Given the description of an element on the screen output the (x, y) to click on. 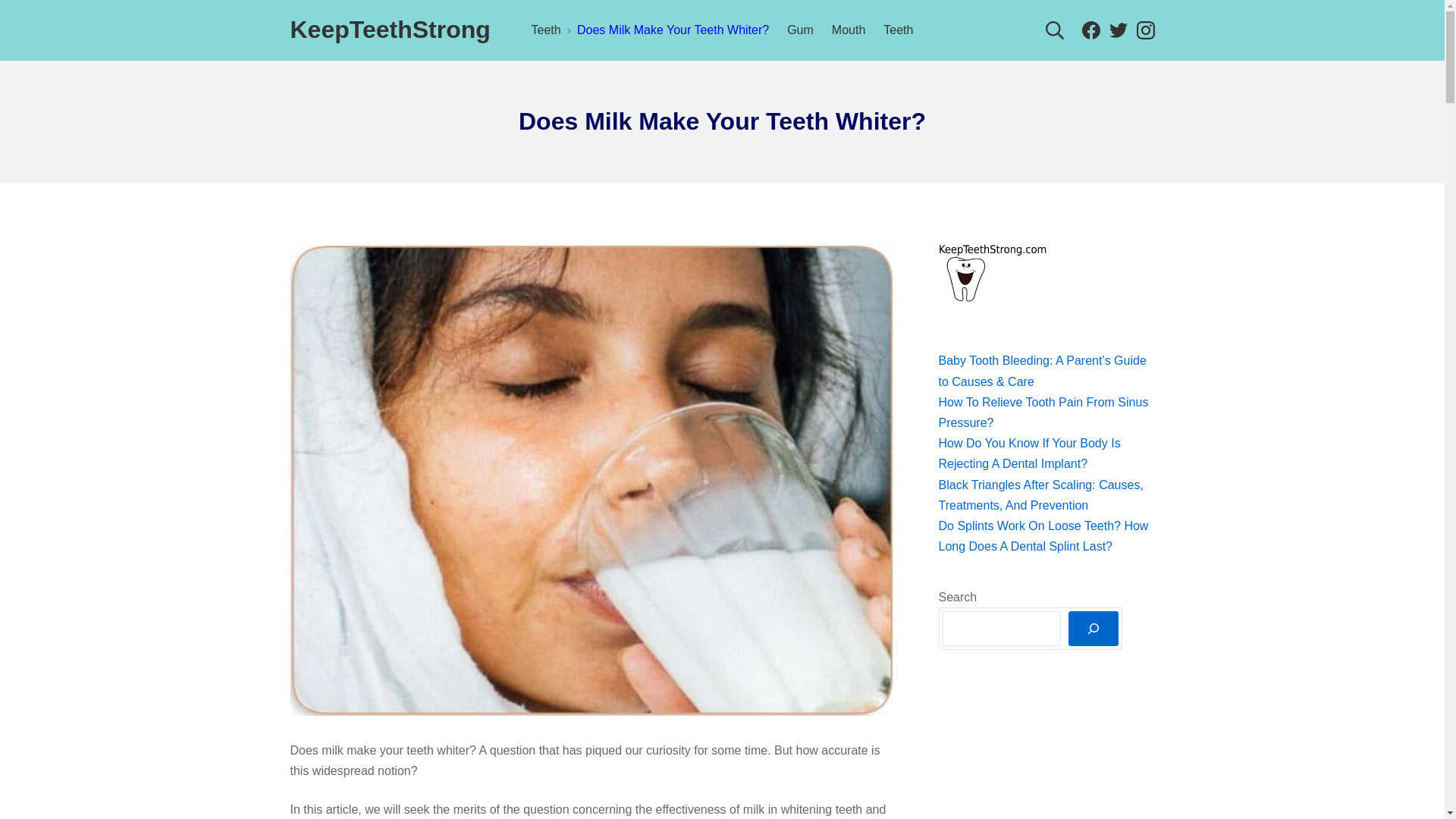
Search (1144, 29)
Instagram (35, 15)
How Do You Know If Your Body Is Rejecting A Dental Implant? (1144, 30)
Instagram icon (1030, 453)
Facebook (1144, 30)
Gum (1090, 29)
Facebook (800, 29)
Search (1090, 30)
Twitter (1053, 29)
Mouth (1117, 30)
Twitter icon (847, 29)
How To Relieve Tooth Pain From Sinus Pressure? (1117, 30)
Teeth (1043, 412)
